Given the description of an element on the screen output the (x, y) to click on. 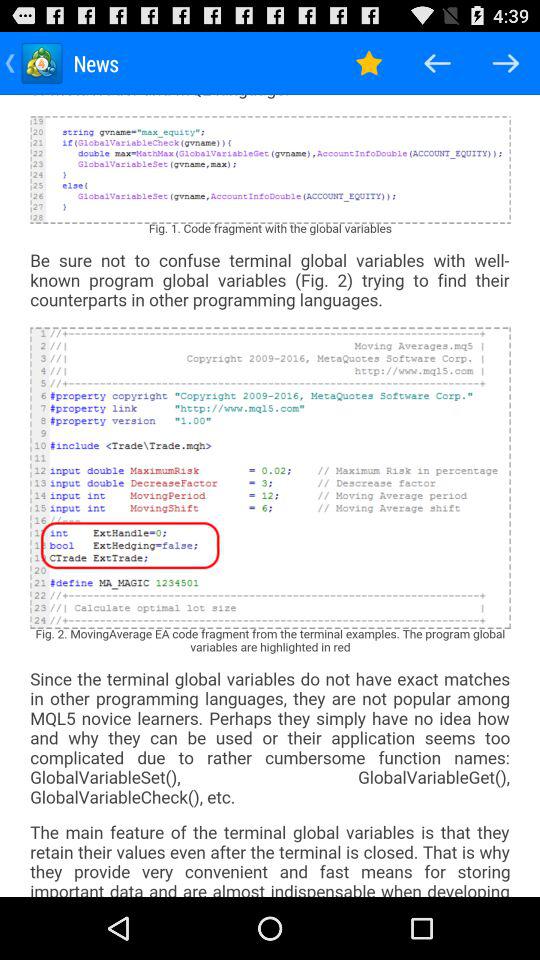
description (269, 495)
